Given the description of an element on the screen output the (x, y) to click on. 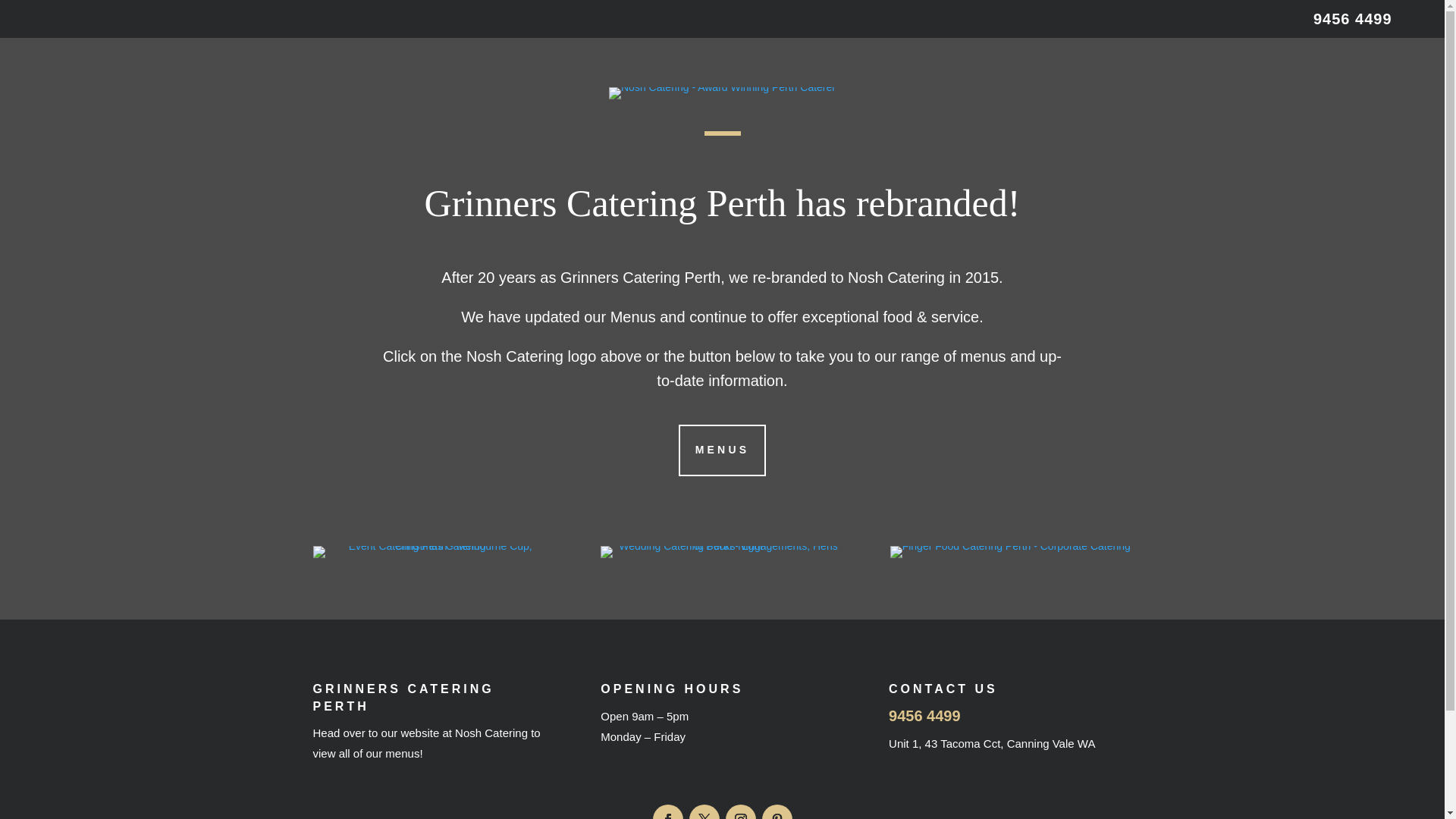
MENUS Element type: text (722, 450)
Event Catering Perth - Melbourne Cup, Christmas Catering Element type: hover (433, 545)
Event Catering Perth - Melbourne Cup, Christmas Catering Element type: hover (433, 552)
Nosh Catering - Award Winning Perth Caterer Element type: hover (721, 93)
Finger Food Catering Perth - Corporate Catering Element type: hover (1010, 545)
Finger Food Catering Perth - Corporate Catering Element type: hover (1010, 552)
Wedding Catering Perth - Engagements, Hens or Bucks Night Element type: hover (721, 545)
Wedding Catering Perth - Engagements, Hens or Bucks Night Element type: hover (721, 552)
